Given the description of an element on the screen output the (x, y) to click on. 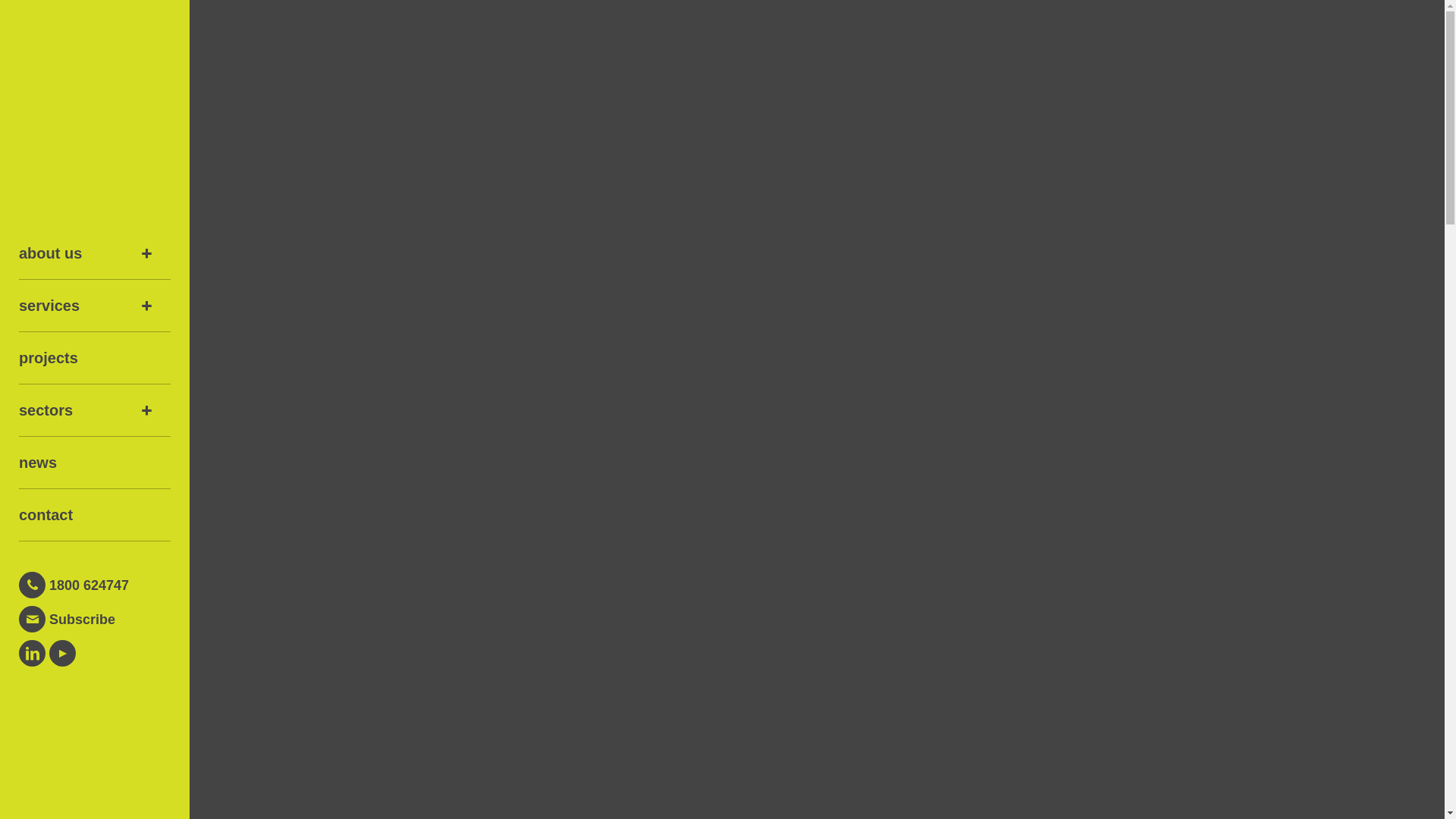
sectors Element type: text (94, 410)
projects Element type: text (94, 358)
Subscribe Element type: text (94, 618)
contact Element type: text (94, 515)
news Element type: text (94, 462)
about us Element type: text (94, 253)
services Element type: text (94, 305)
